Given the description of an element on the screen output the (x, y) to click on. 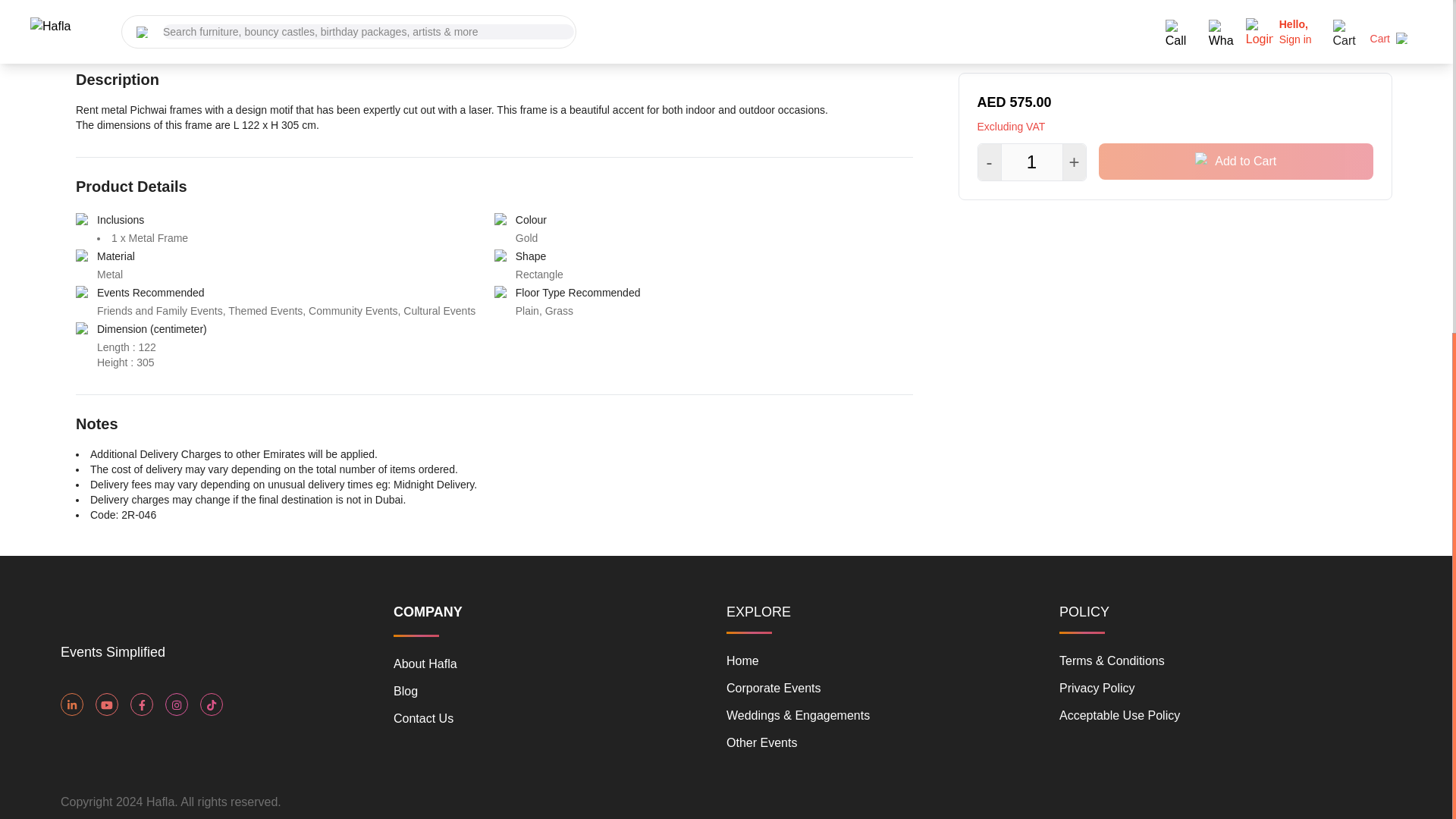
Other Events (761, 742)
Acceptable Use Policy (1119, 715)
Contact Us (422, 717)
Home (742, 660)
Privacy Policy (1097, 687)
1 (1031, 75)
Blog (405, 690)
About Hafla (425, 663)
Add to Cart (1236, 74)
Hafla (100, 622)
